Given the description of an element on the screen output the (x, y) to click on. 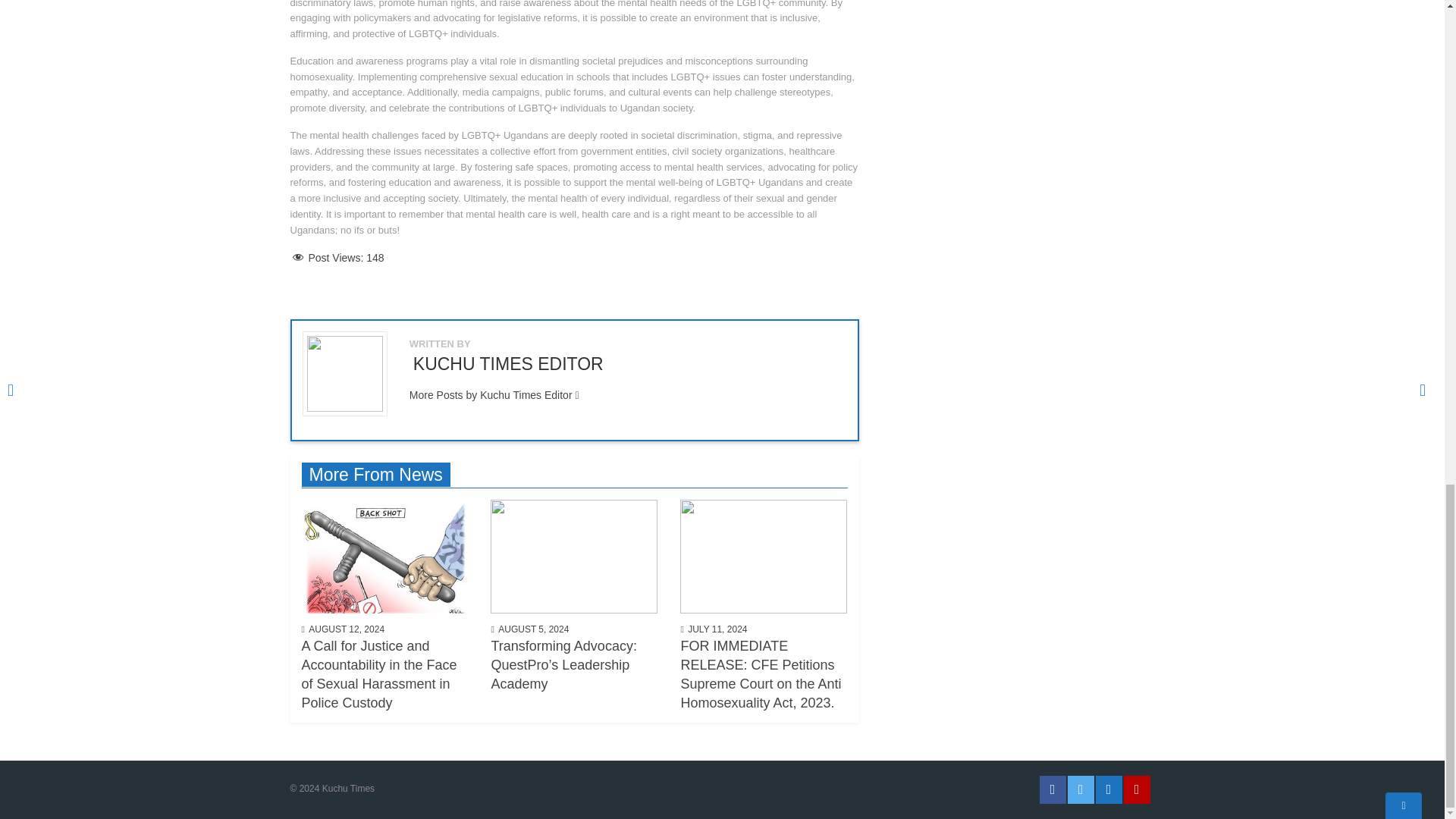
Twitter (1080, 789)
Facebook (1052, 789)
